Given the description of an element on the screen output the (x, y) to click on. 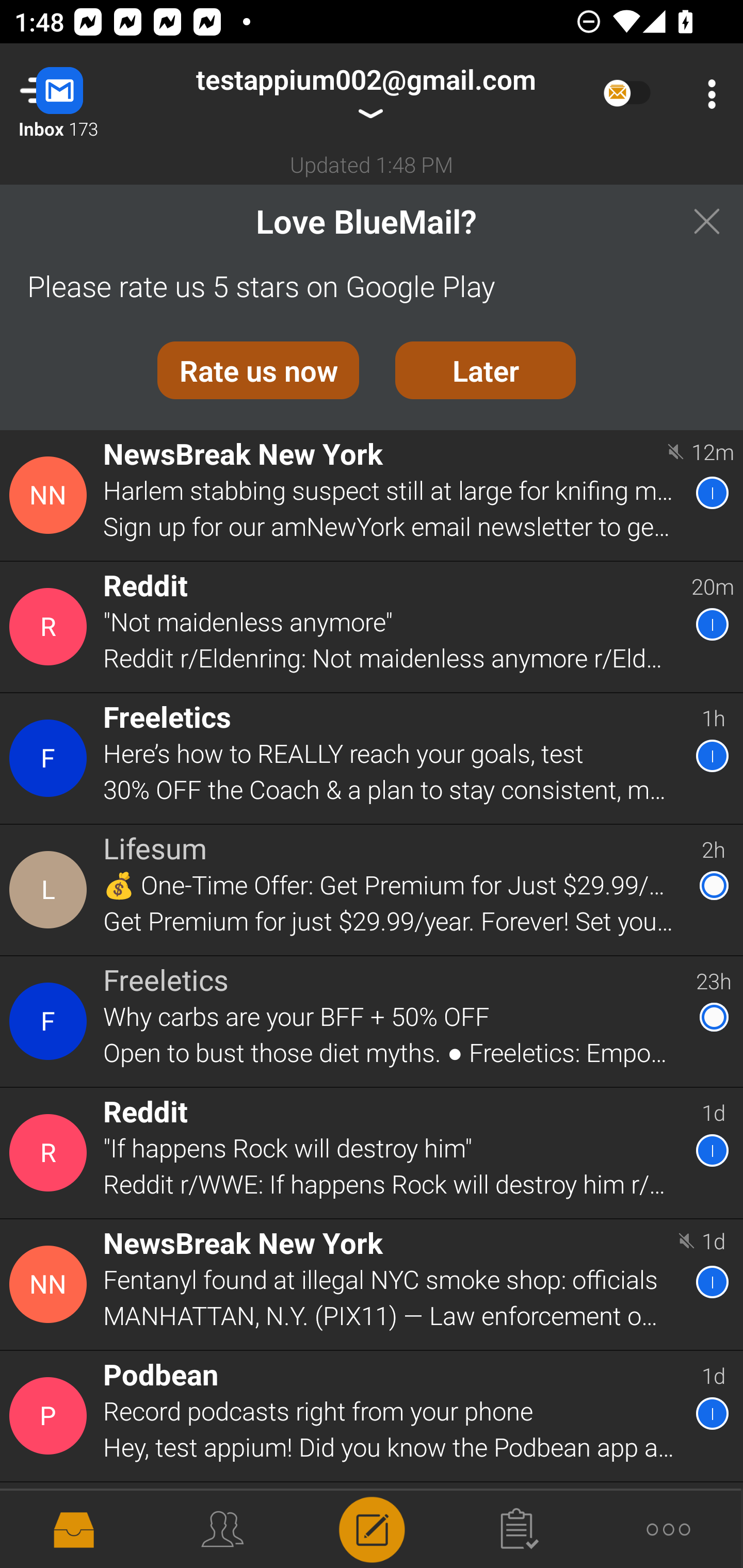
Navigate up (81, 93)
testappium002@gmail.com (365, 93)
More Options (706, 93)
Updated 1:48 PM (371, 164)
Rate us now (257, 370)
Later (485, 370)
Contact Details (50, 495)
Contact Details (50, 626)
Contact Details (50, 758)
Contact Details (50, 889)
Contact Details (50, 1021)
Contact Details (50, 1153)
Contact Details (50, 1284)
Contact Details (50, 1416)
Compose (371, 1528)
